Given the description of an element on the screen output the (x, y) to click on. 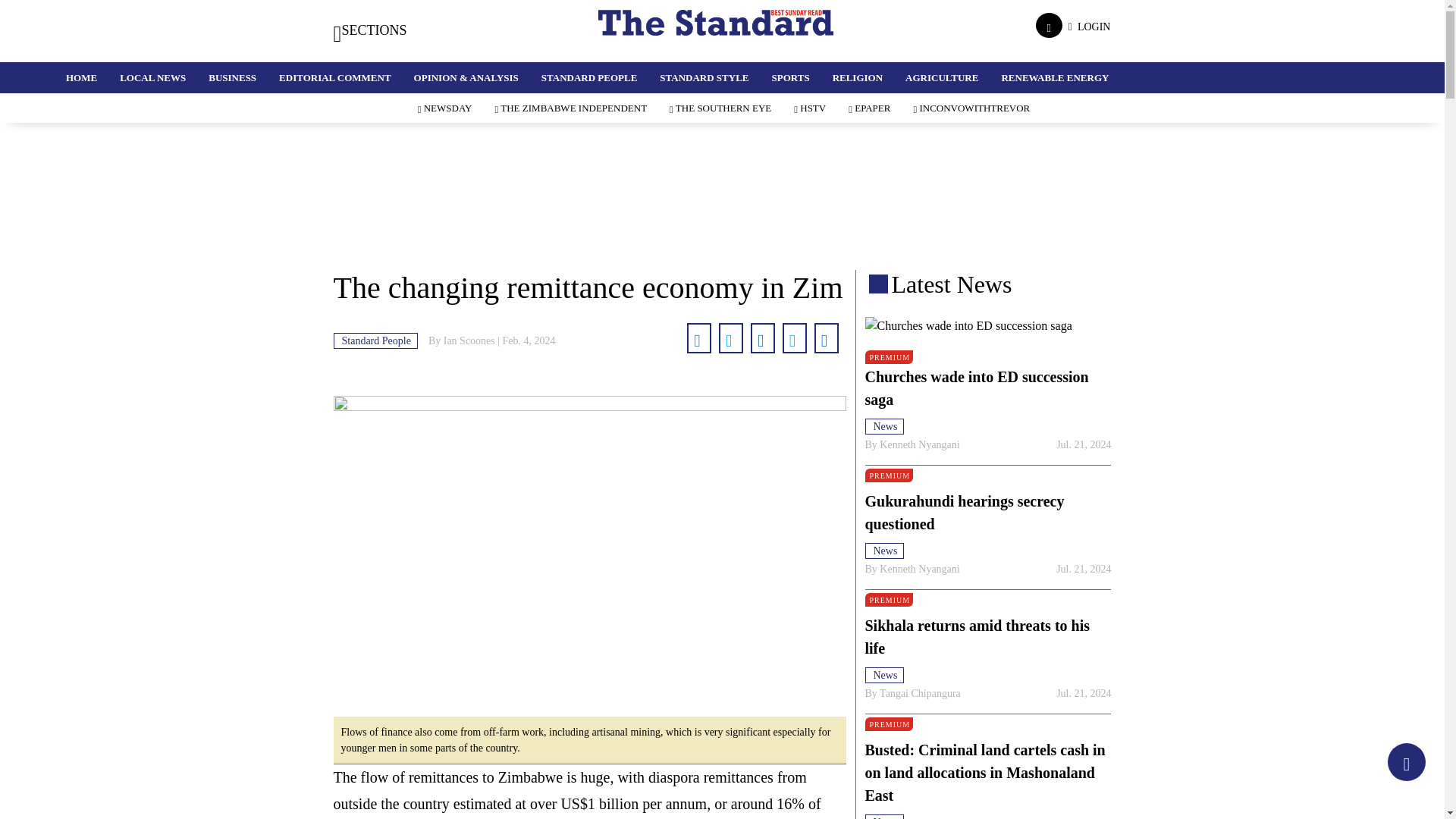
3rd party ad content (721, 220)
